Given the description of an element on the screen output the (x, y) to click on. 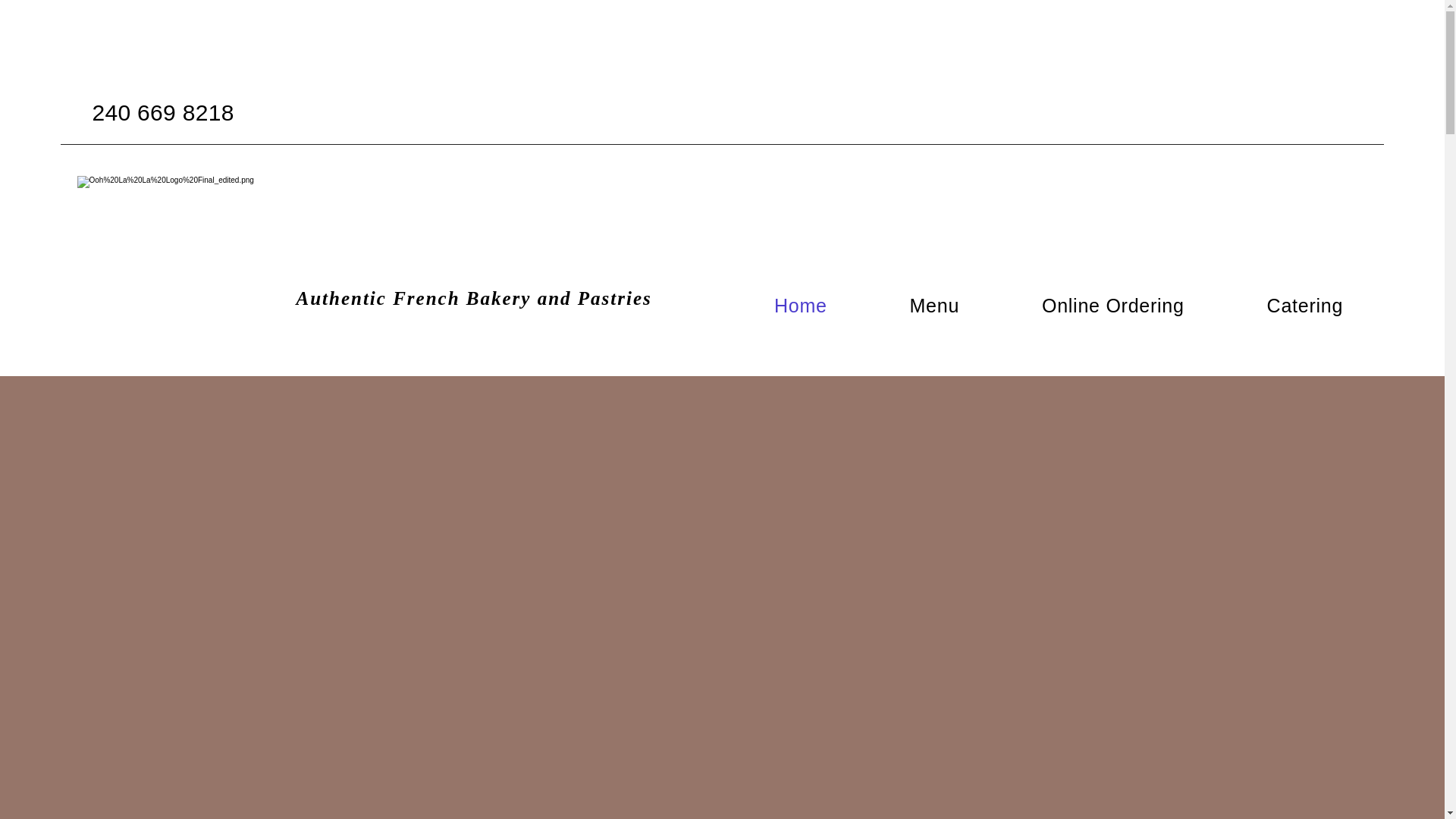
Online Ordering (1113, 305)
Catering (1304, 305)
Menu (933, 305)
Home (799, 305)
